Given the description of an element on the screen output the (x, y) to click on. 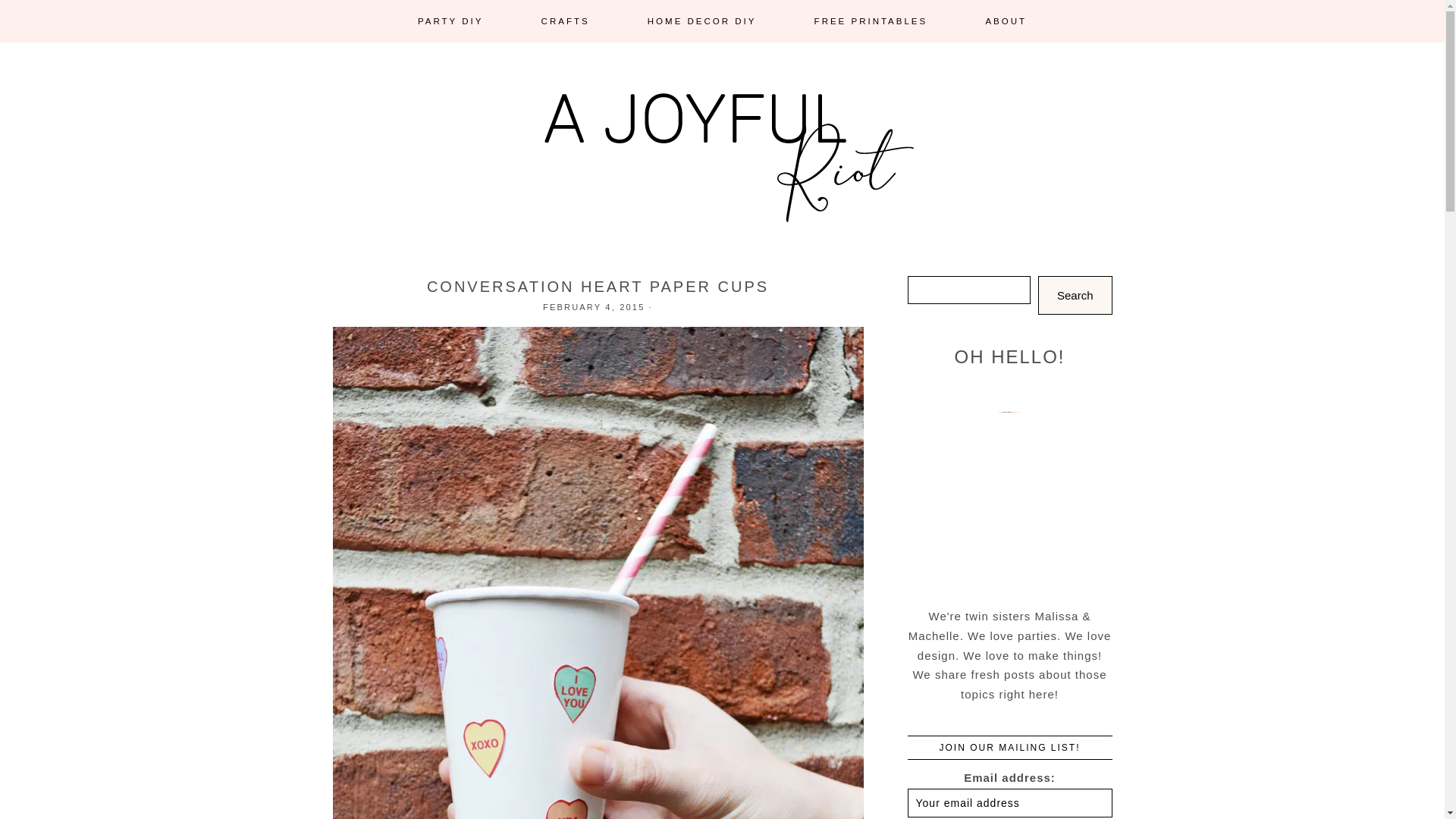
FREE PRINTABLES (871, 21)
A JOYFUL RIOT (721, 174)
CRAFTS (565, 21)
Search (1075, 295)
ABOUT (1006, 21)
PARTY DIY (450, 21)
HOME DECOR DIY (702, 21)
